Given the description of an element on the screen output the (x, y) to click on. 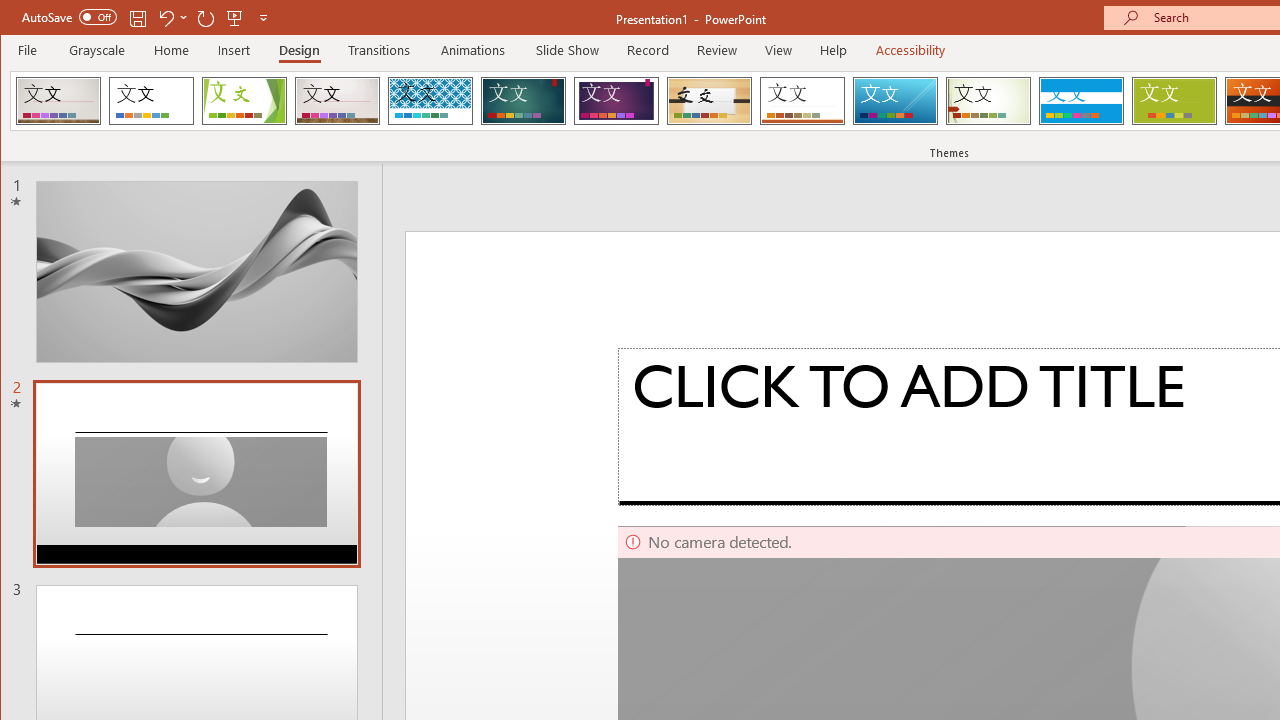
Grayscale (97, 50)
Office Theme (151, 100)
Ion (523, 100)
Basis (1174, 100)
Slice (895, 100)
Integral (430, 100)
